Given the description of an element on the screen output the (x, y) to click on. 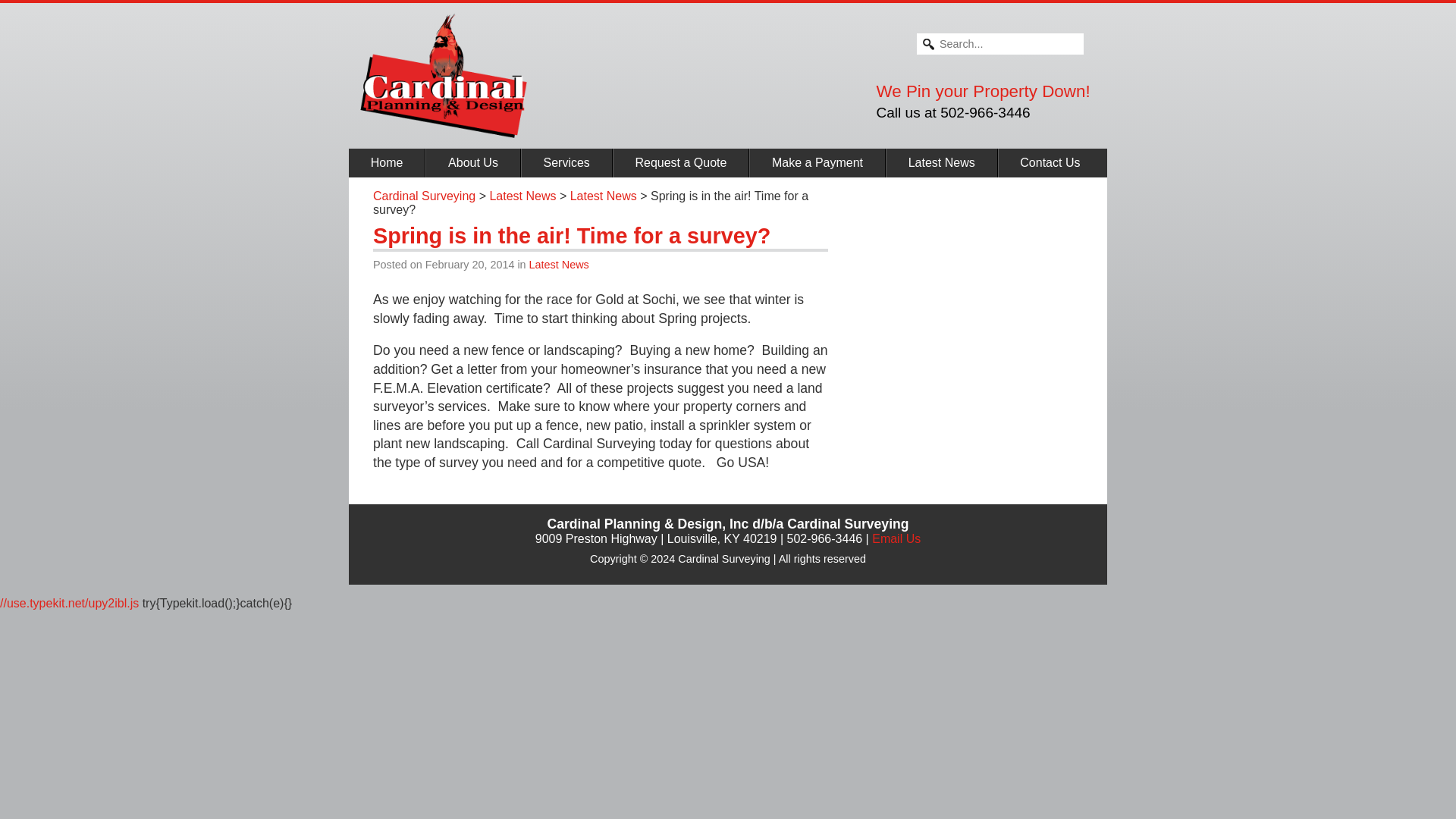
Latest News (941, 162)
Latest News (522, 195)
Make a Payment (817, 162)
Contact Us (1049, 162)
Search (21, 7)
Latest News (559, 264)
Go to Cardinal Surveying. (424, 195)
Email Us (896, 538)
Latest News (603, 195)
Go to the Latest News Category archives. (603, 195)
Services (566, 162)
About Us (472, 162)
Request a Quote (680, 162)
Home (387, 162)
Cardinal Surveying (424, 195)
